Given the description of an element on the screen output the (x, y) to click on. 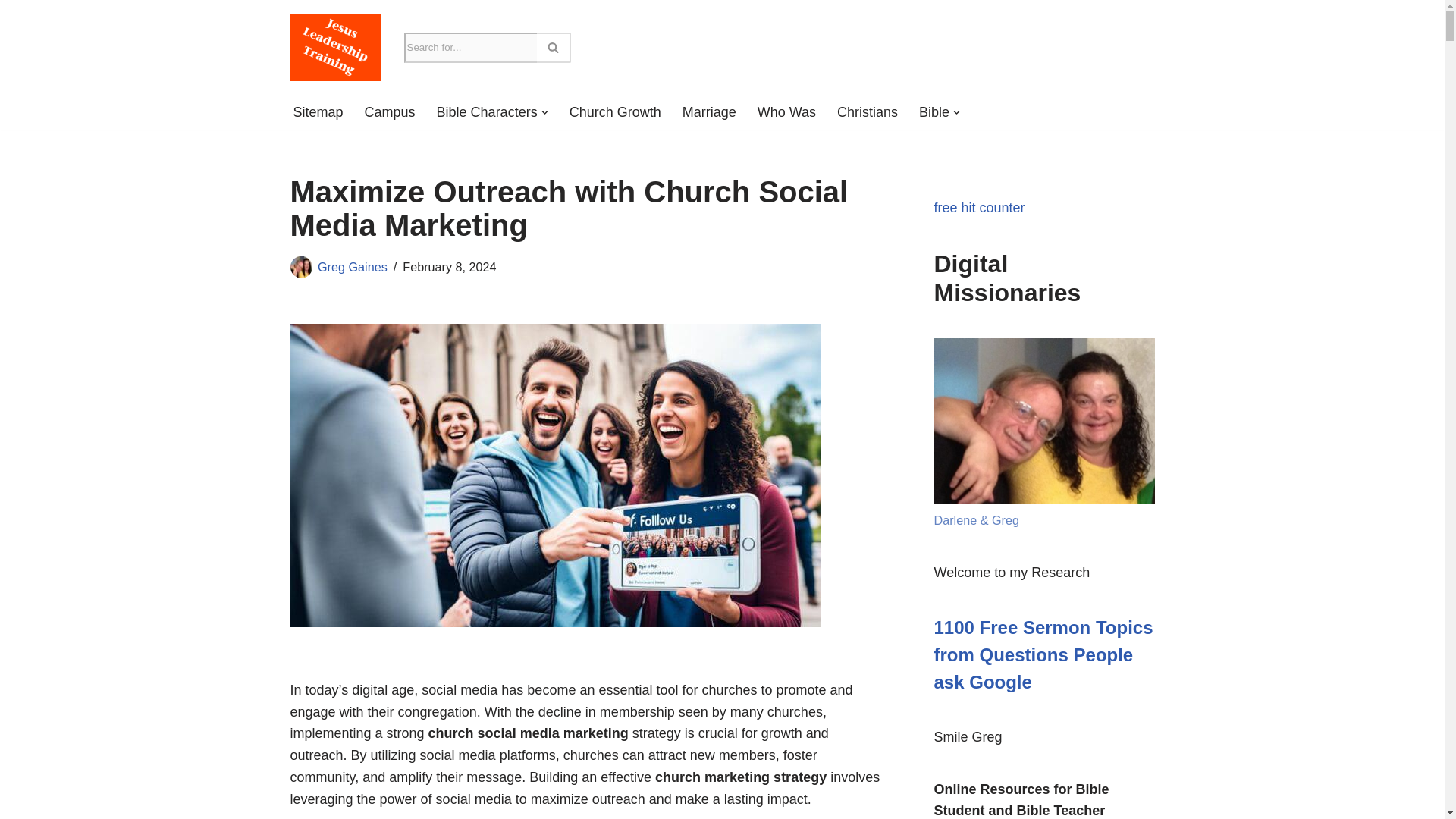
Marriage (709, 111)
Skip to content (11, 31)
Sitemap (317, 111)
Bible Characters (486, 111)
Bible (933, 111)
Church Growth (615, 111)
Christians (867, 111)
Campus (389, 111)
Who Was (786, 111)
